Given the description of an element on the screen output the (x, y) to click on. 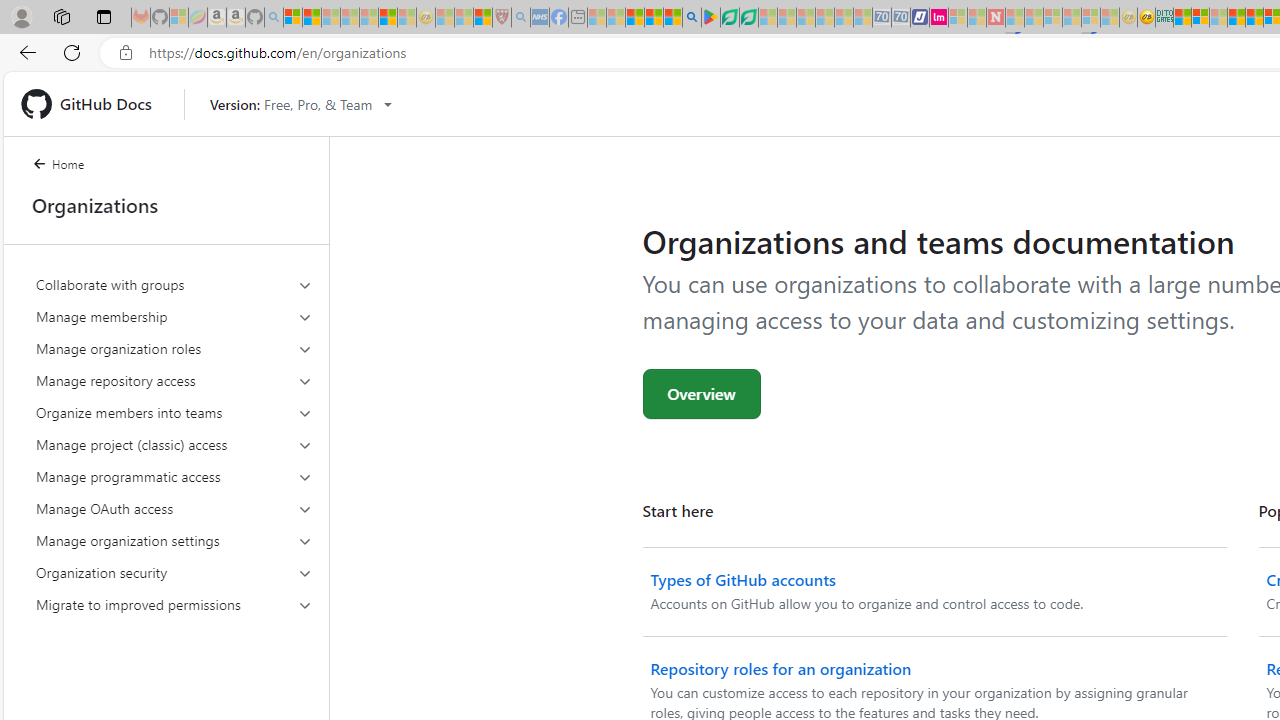
Local - MSN (482, 17)
Organize members into teams (174, 412)
Kinda Frugal - MSN (1254, 17)
Manage organization roles (174, 348)
GitHub Docs (93, 103)
Overview (701, 393)
